Given the description of an element on the screen output the (x, y) to click on. 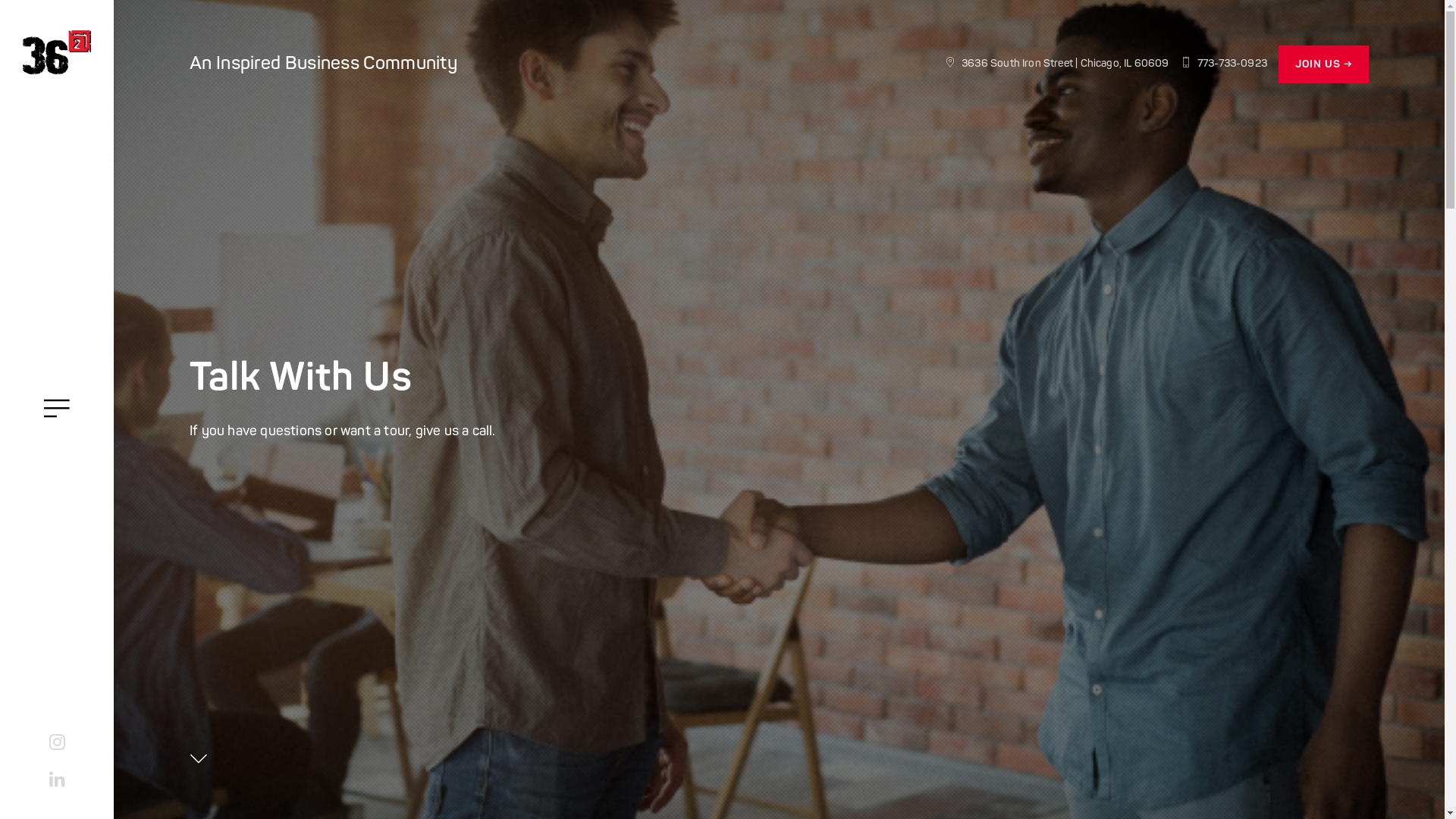
773-733-0923 Element type: text (1223, 64)
